Given the description of an element on the screen output the (x, y) to click on. 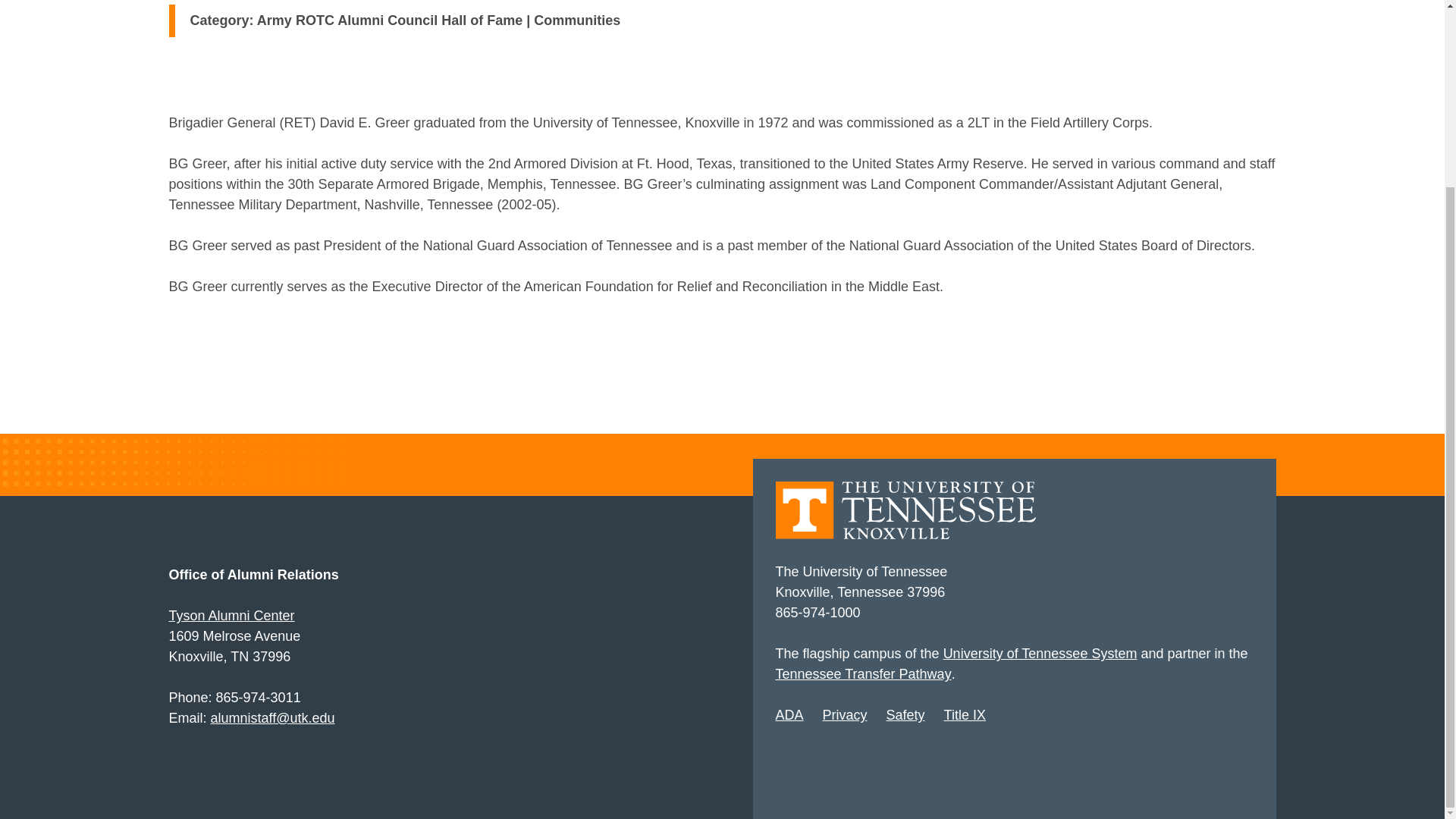
Tyson Alumni Center (231, 615)
